Given the description of an element on the screen output the (x, y) to click on. 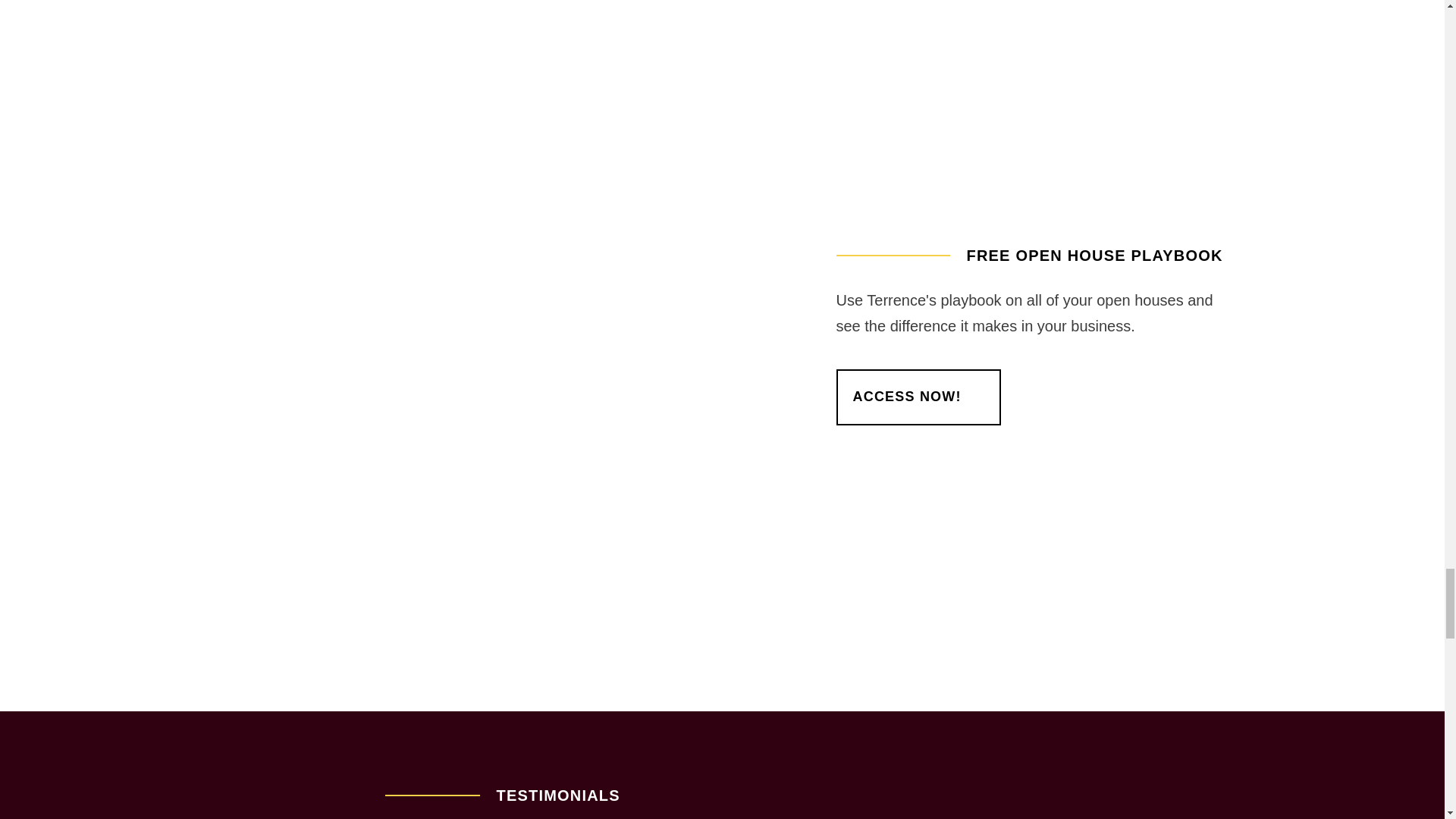
ACCESS NOW! (917, 397)
